Given the description of an element on the screen output the (x, y) to click on. 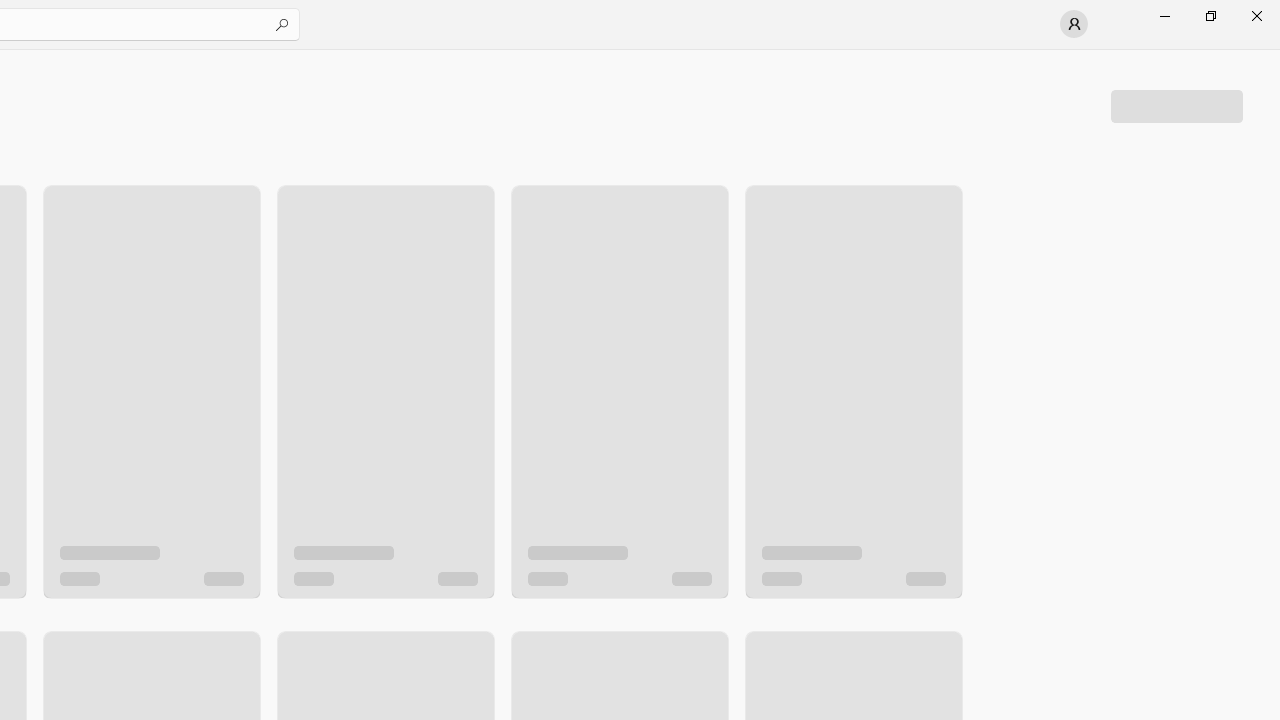
THE WOLF OF WALL STREET. On Sale Starts at $2.99   (385, 372)
Filters (1176, 105)
User profile (1073, 24)
Restore Microsoft Store (1210, 15)
Minimize Microsoft Store (1164, 15)
Vertical Small Decrease (1272, 55)
Close Microsoft Store (1256, 15)
